Given the description of an element on the screen output the (x, y) to click on. 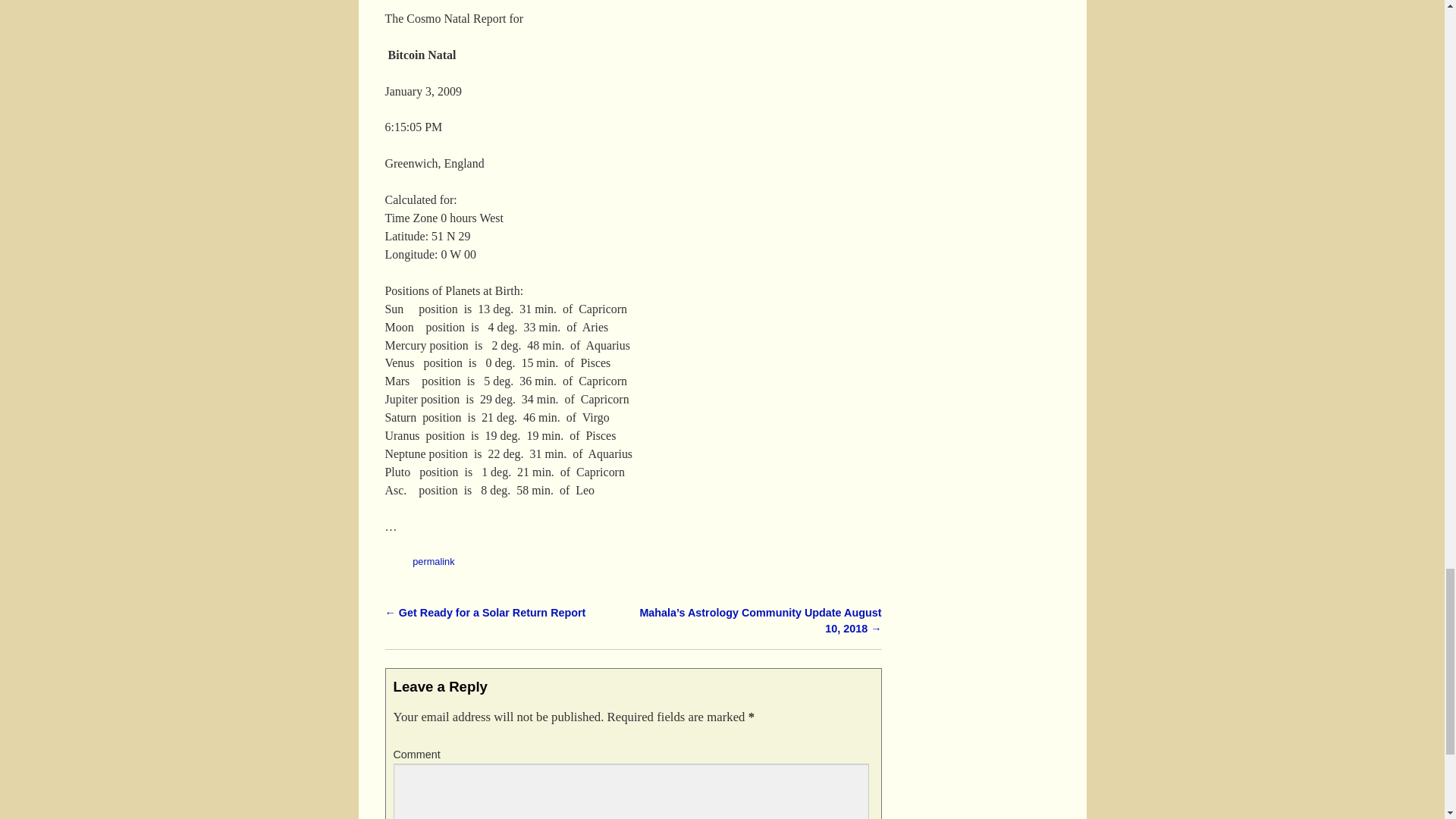
Permalink to The Personality of Bitcoin (433, 561)
permalink (433, 561)
